Given the description of an element on the screen output the (x, y) to click on. 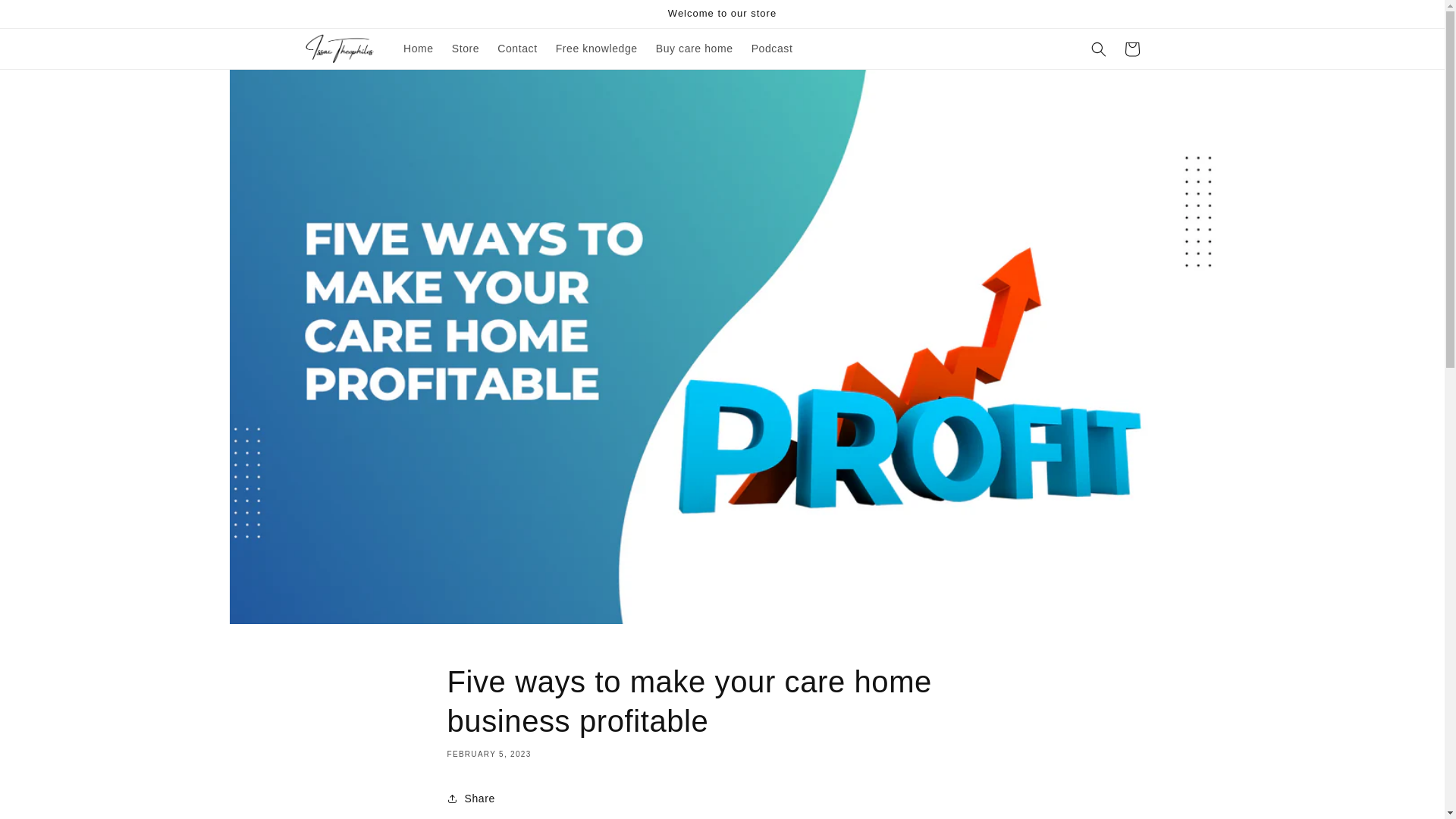
Podcast (772, 48)
Home (418, 48)
Store (464, 48)
Cart (1131, 49)
Skip to content (45, 17)
Contact (516, 48)
Buy care home (694, 48)
Free knowledge (596, 48)
